Given the description of an element on the screen output the (x, y) to click on. 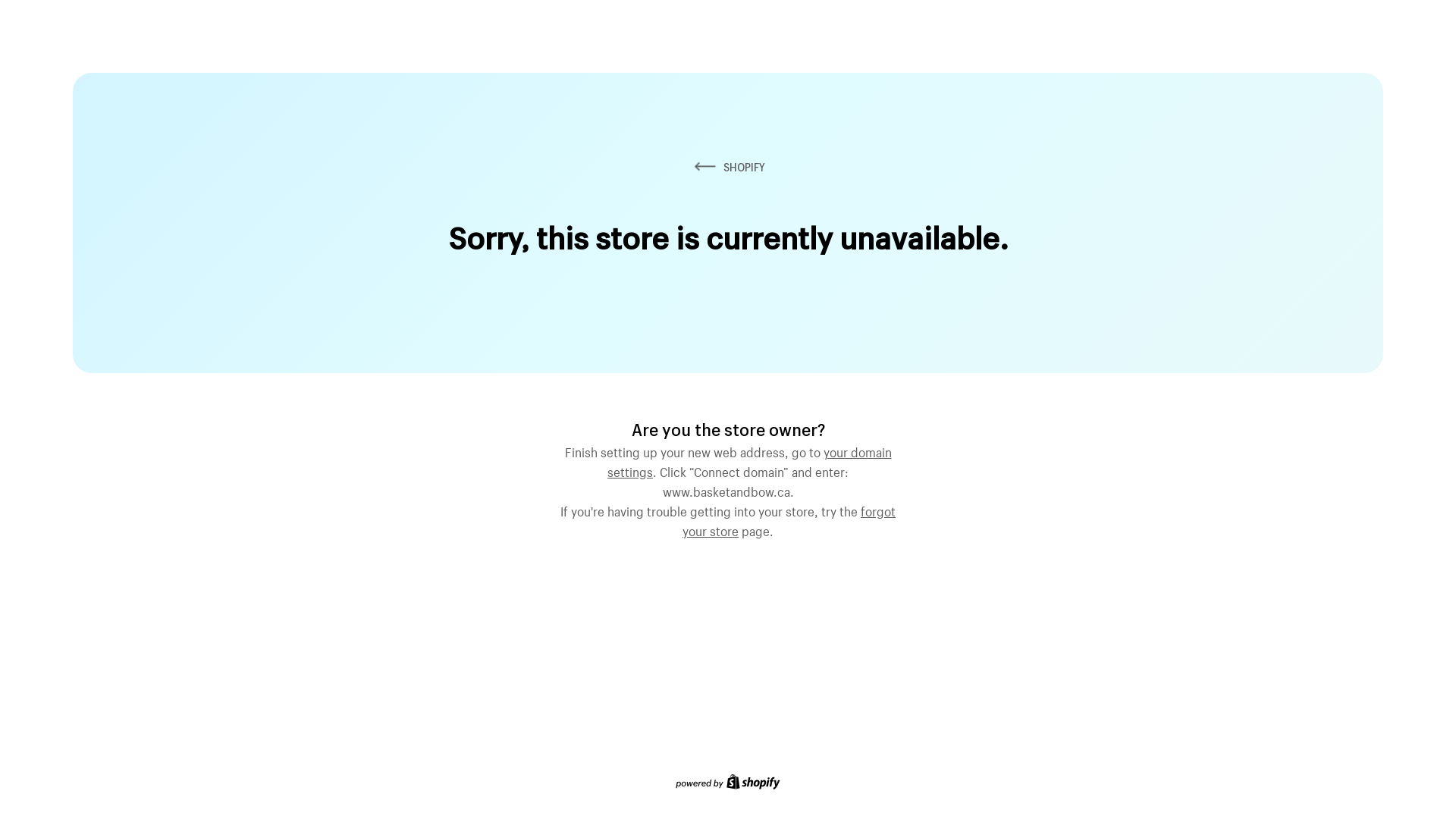
forgot your store Element type: text (788, 519)
SHOPIFY Element type: text (727, 167)
your domain settings Element type: text (749, 460)
